Given the description of an element on the screen output the (x, y) to click on. 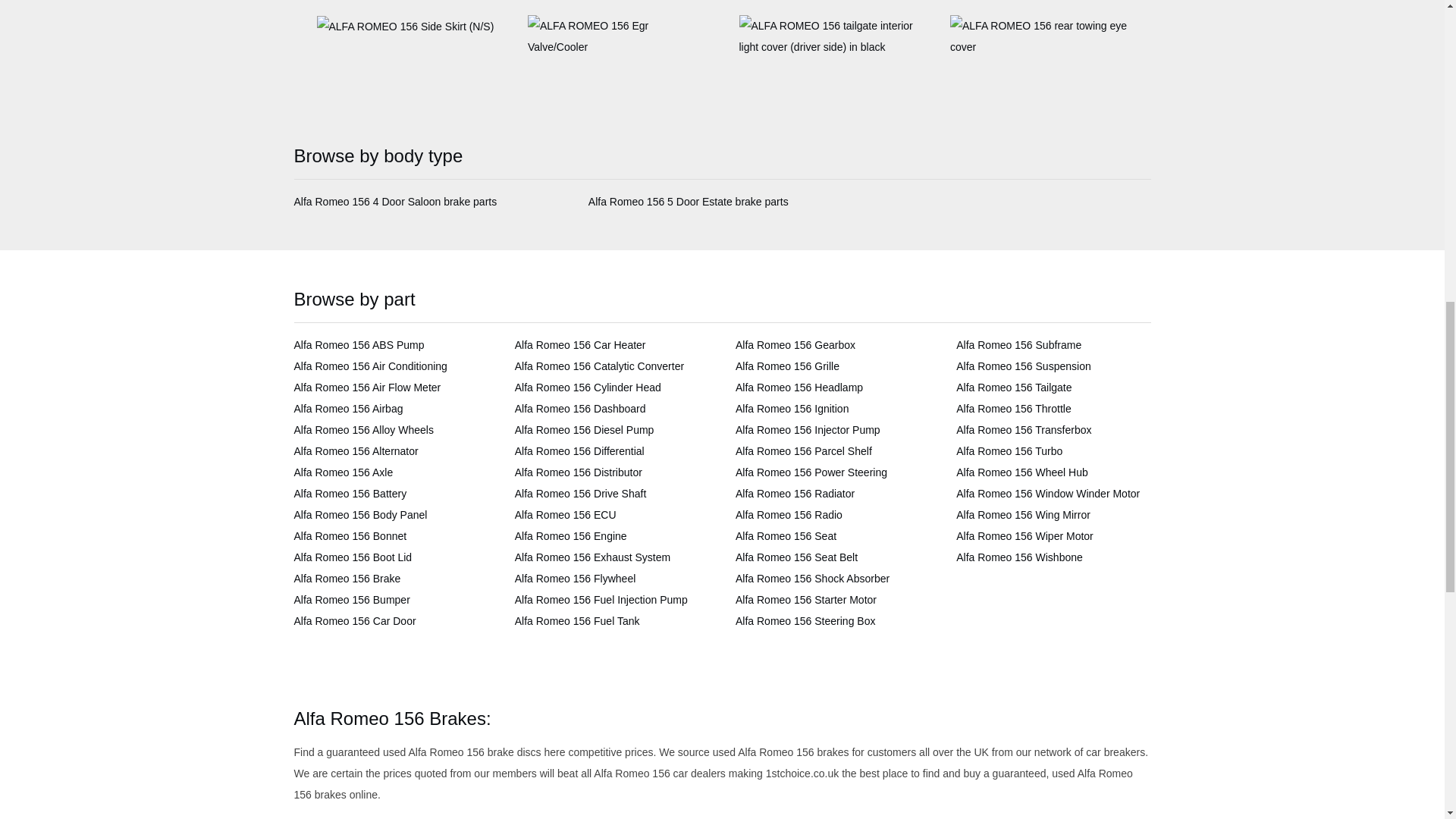
Alfa Romeo 156 ABS Pump (359, 345)
Alfa Romeo 156 Alternator (356, 451)
Alfa Romeo 156 Airbag (348, 408)
Alfa Romeo 156 Air Flow Meter (367, 387)
Alfa Romeo 156 5 Door Estate brake parts (688, 201)
Alfa Romeo 156 Air Conditioning (370, 366)
Alfa Romeo 156 Alloy Wheels (363, 429)
Alfa Romeo 156 4 Door Saloon brake parts (395, 201)
